Given the description of an element on the screen output the (x, y) to click on. 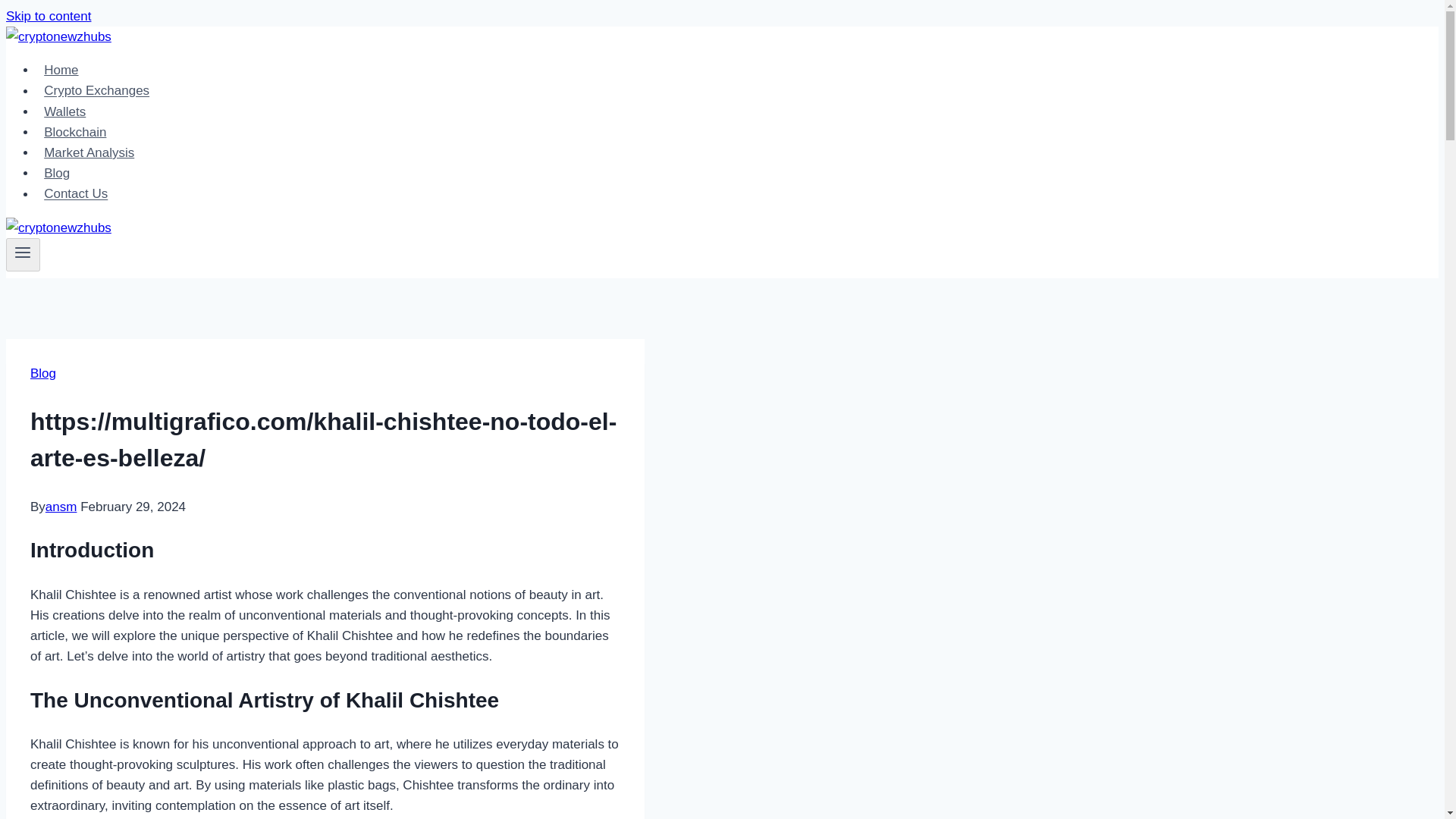
Crypto Exchanges (96, 90)
Wallets (64, 111)
Skip to content (47, 16)
Toggle Menu (22, 254)
ansm (61, 506)
Blog (43, 373)
Contact Us (75, 193)
Blockchain (75, 132)
Blog (56, 173)
Home (60, 70)
Skip to content (47, 16)
Toggle Menu (22, 252)
Market Analysis (88, 152)
